Given the description of an element on the screen output the (x, y) to click on. 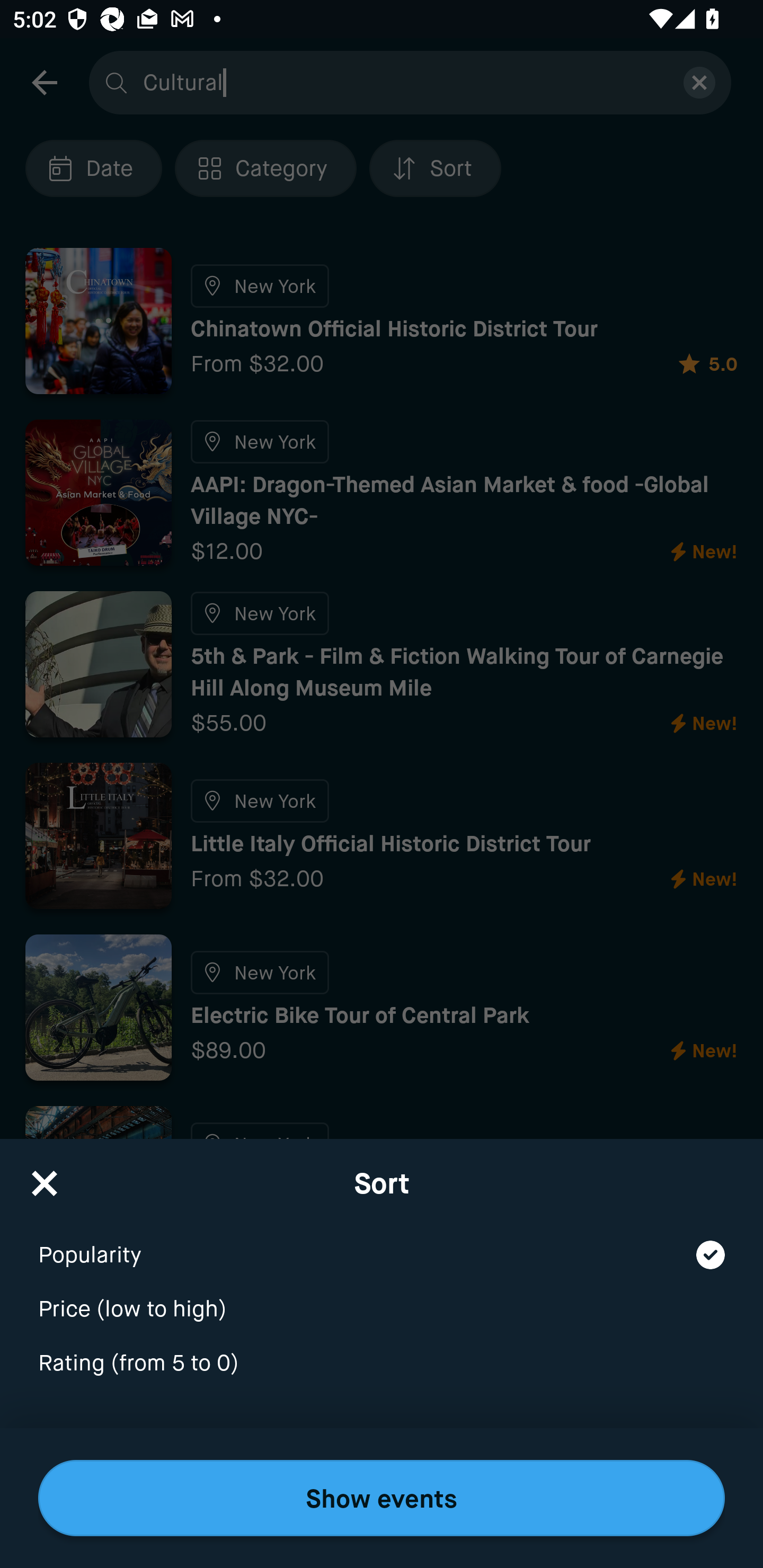
CloseButton (44, 1177)
Popularity Selected Icon (381, 1243)
Price (low to high) (381, 1297)
Rating (from 5 to 0) (381, 1362)
Show events (381, 1497)
